Given the description of an element on the screen output the (x, y) to click on. 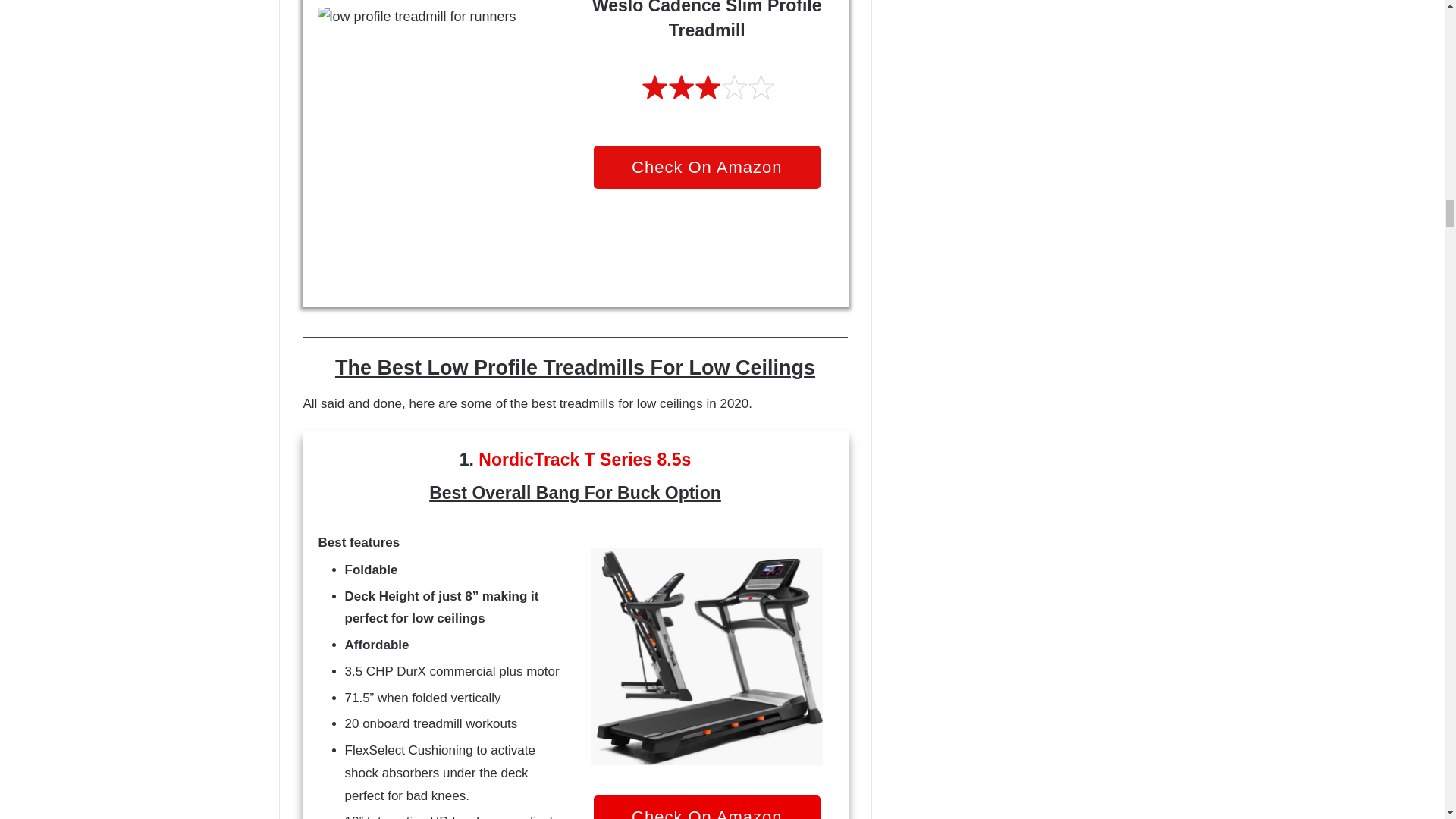
Check On Amazon (707, 167)
low profile treadmill (706, 655)
best low profile treadmill for runners (443, 125)
